Given the description of an element on the screen output the (x, y) to click on. 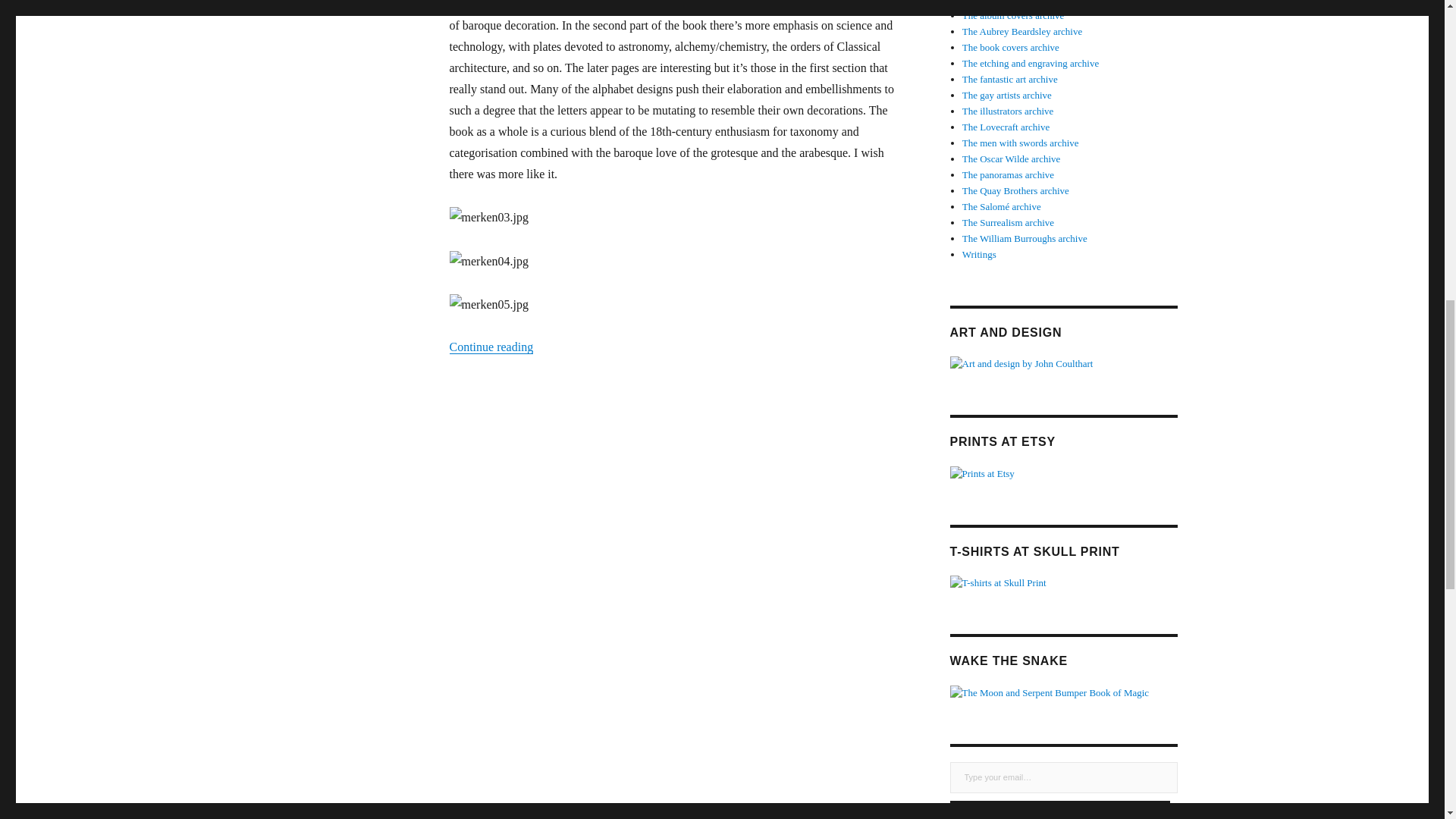
The Aubrey Beardsley archive (1021, 30)
The album covers archive (1013, 15)
The book covers archive (1010, 47)
The abstract cinema archive (1017, 2)
Please fill in this field. (1062, 777)
